Given the description of an element on the screen output the (x, y) to click on. 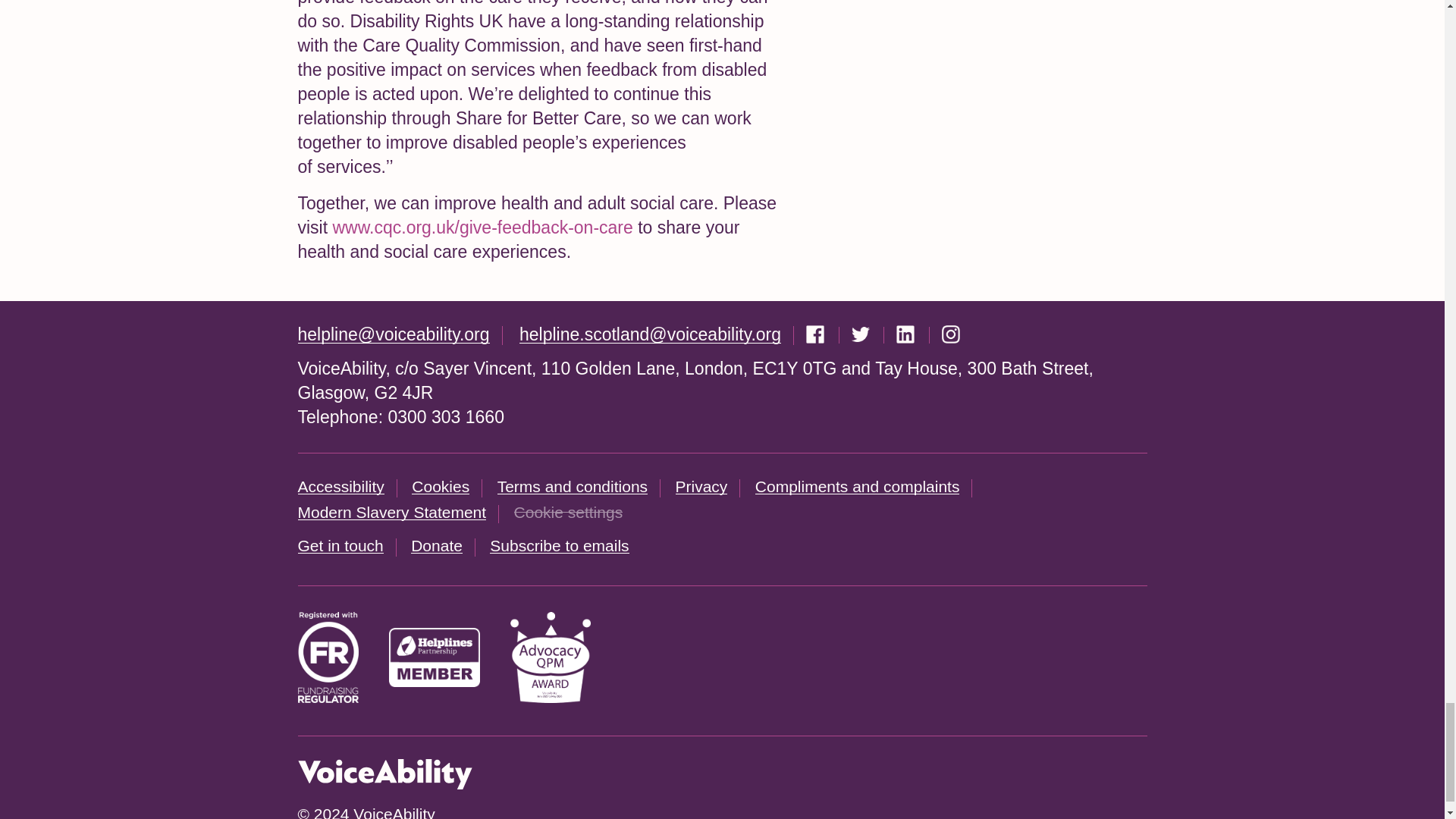
VoiceAbility logo (384, 774)
